Given the description of an element on the screen output the (x, y) to click on. 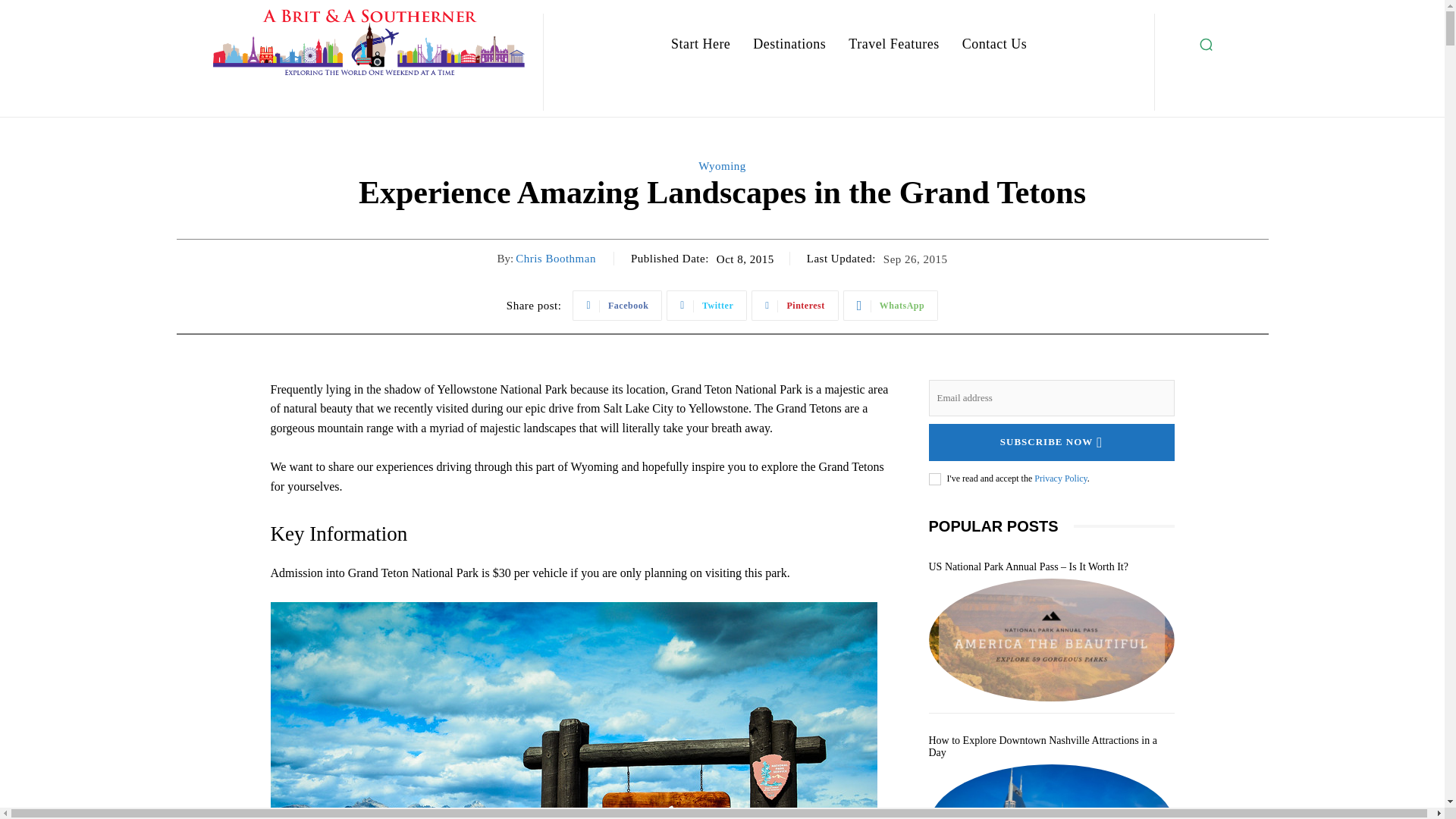
Start Here (700, 43)
Chris Boothman (555, 258)
Pinterest (794, 305)
WhatsApp (890, 305)
Travel Features (893, 43)
Twitter (706, 305)
Twitter (706, 305)
Wyoming (721, 165)
Contact Us (995, 43)
WhatsApp (890, 305)
Facebook (617, 305)
Facebook (617, 305)
Destinations (788, 43)
Pinterest (794, 305)
